Given the description of an element on the screen output the (x, y) to click on. 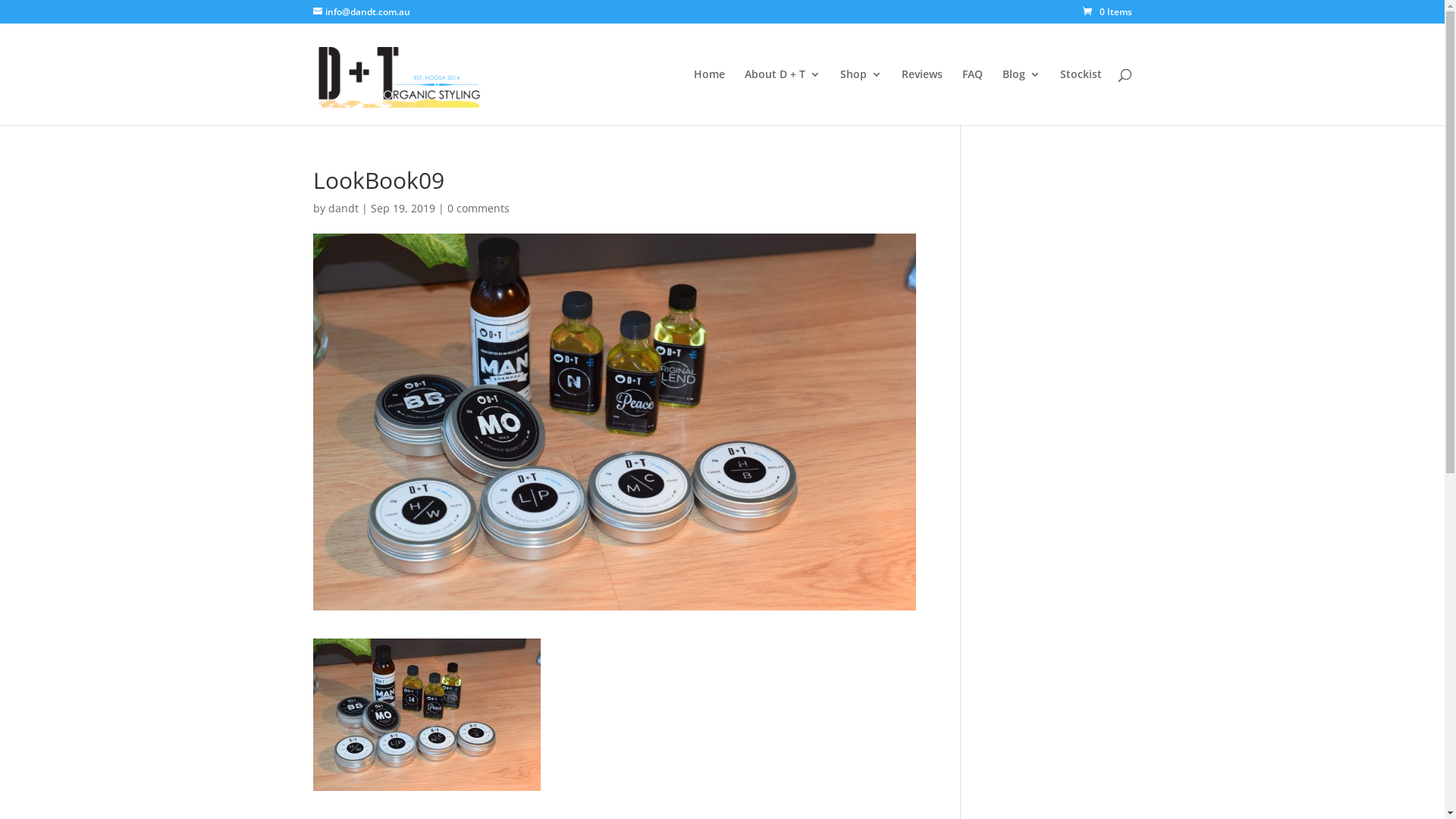
Shop Element type: text (860, 97)
Home Element type: text (708, 97)
FAQ Element type: text (971, 97)
0 Items Element type: text (1107, 11)
Reviews Element type: text (920, 97)
dandt Element type: text (342, 207)
0 comments Element type: text (478, 207)
Stockist Element type: text (1080, 97)
Blog Element type: text (1021, 97)
About D + T Element type: text (782, 97)
info@dandt.com.au Element type: text (360, 11)
